Given the description of an element on the screen output the (x, y) to click on. 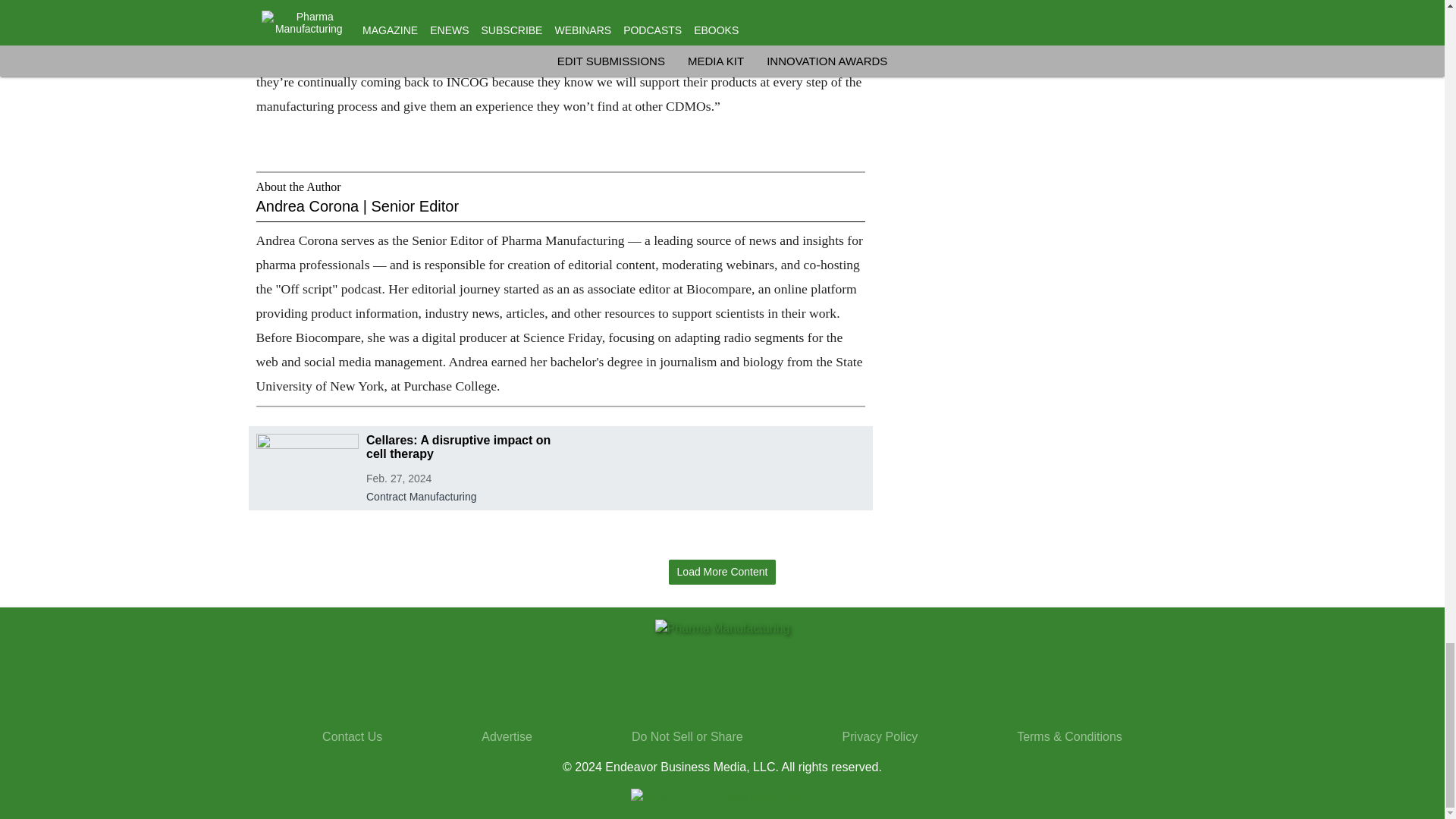
Contract Manufacturing (459, 493)
Load More Content (722, 571)
Cellares: A disruptive impact on cell therapy (459, 447)
